Given the description of an element on the screen output the (x, y) to click on. 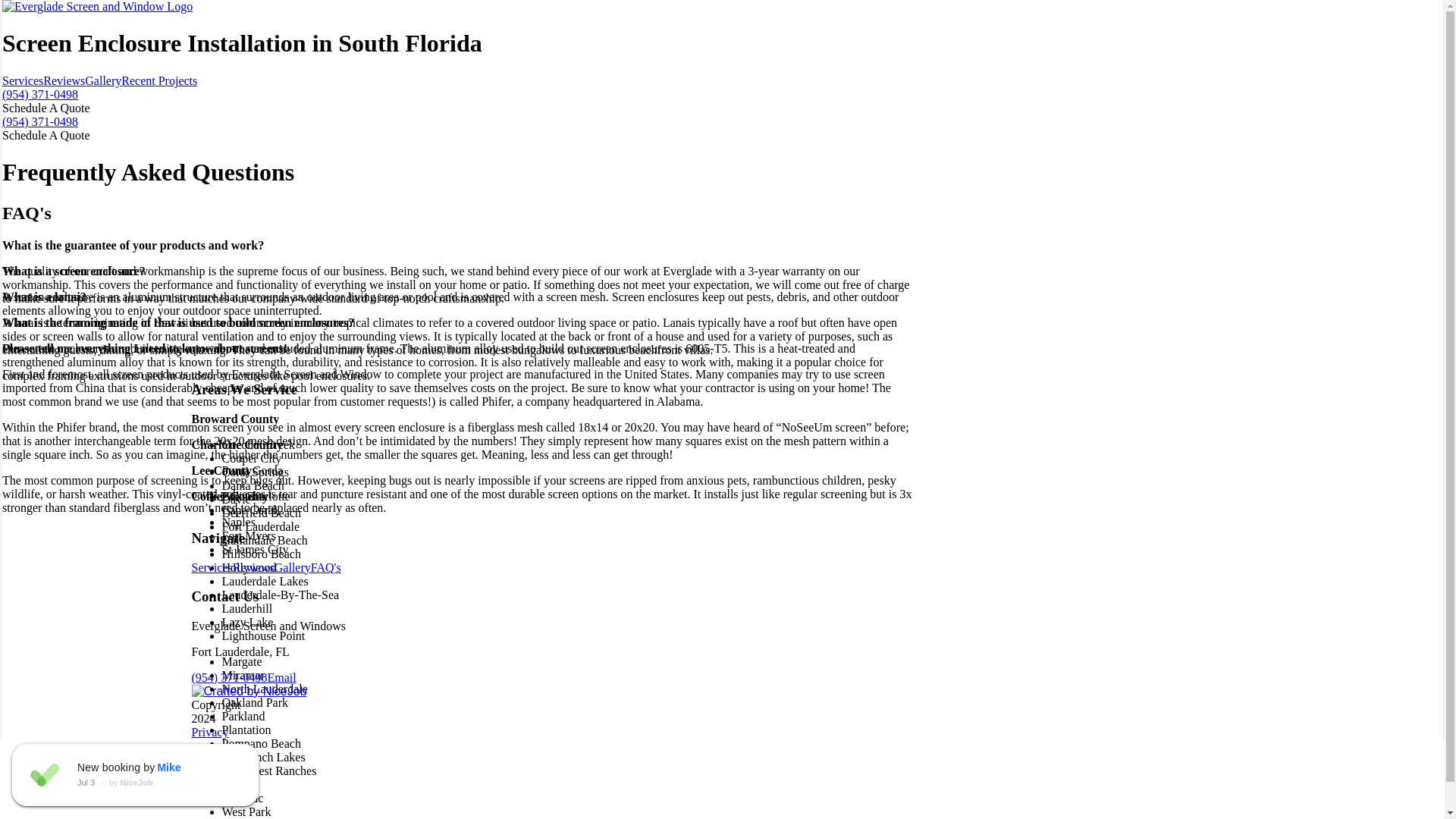
Recent Projects (158, 80)
FAQ's (325, 567)
Gallery (293, 567)
Privacy (209, 731)
Schedule A Quote (46, 107)
Services (210, 567)
Services (22, 80)
Email (280, 676)
Reviews (253, 567)
Schedule A Quote (46, 134)
Gallery (102, 80)
Reviews (63, 80)
